Given the description of an element on the screen output the (x, y) to click on. 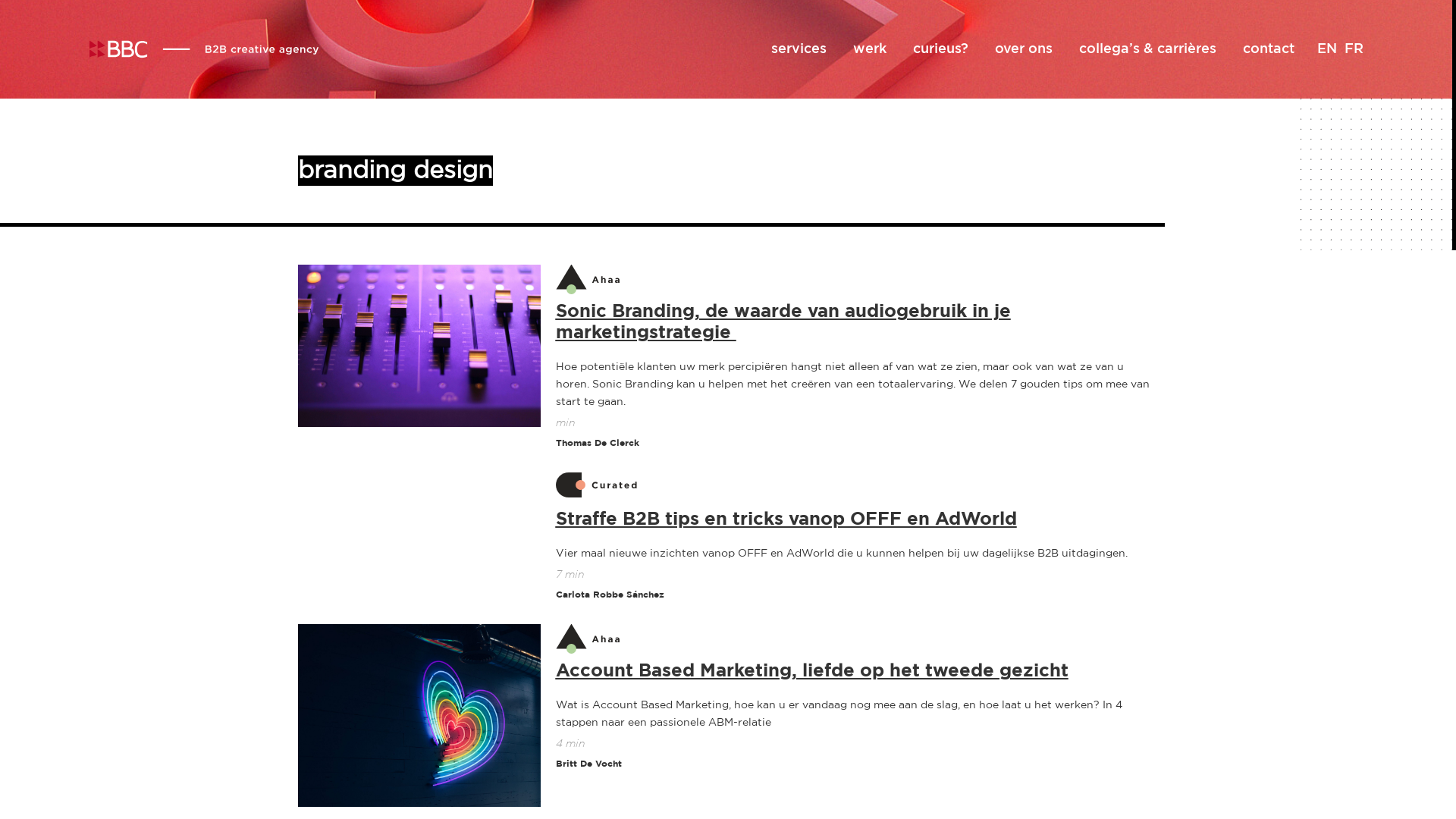
FR Element type: text (1352, 49)
over ons Element type: text (1023, 49)
Straffe B2B tips en tricks vanop OFFF en AdWorld Element type: text (785, 519)
services Element type: text (797, 49)
curieus? Element type: text (940, 49)
werk Element type: text (868, 49)
Account Based Marketing, liefde op het tweede gezicht Element type: text (811, 671)
EN Element type: text (1326, 49)
contact Element type: text (1267, 49)
